Given the description of an element on the screen output the (x, y) to click on. 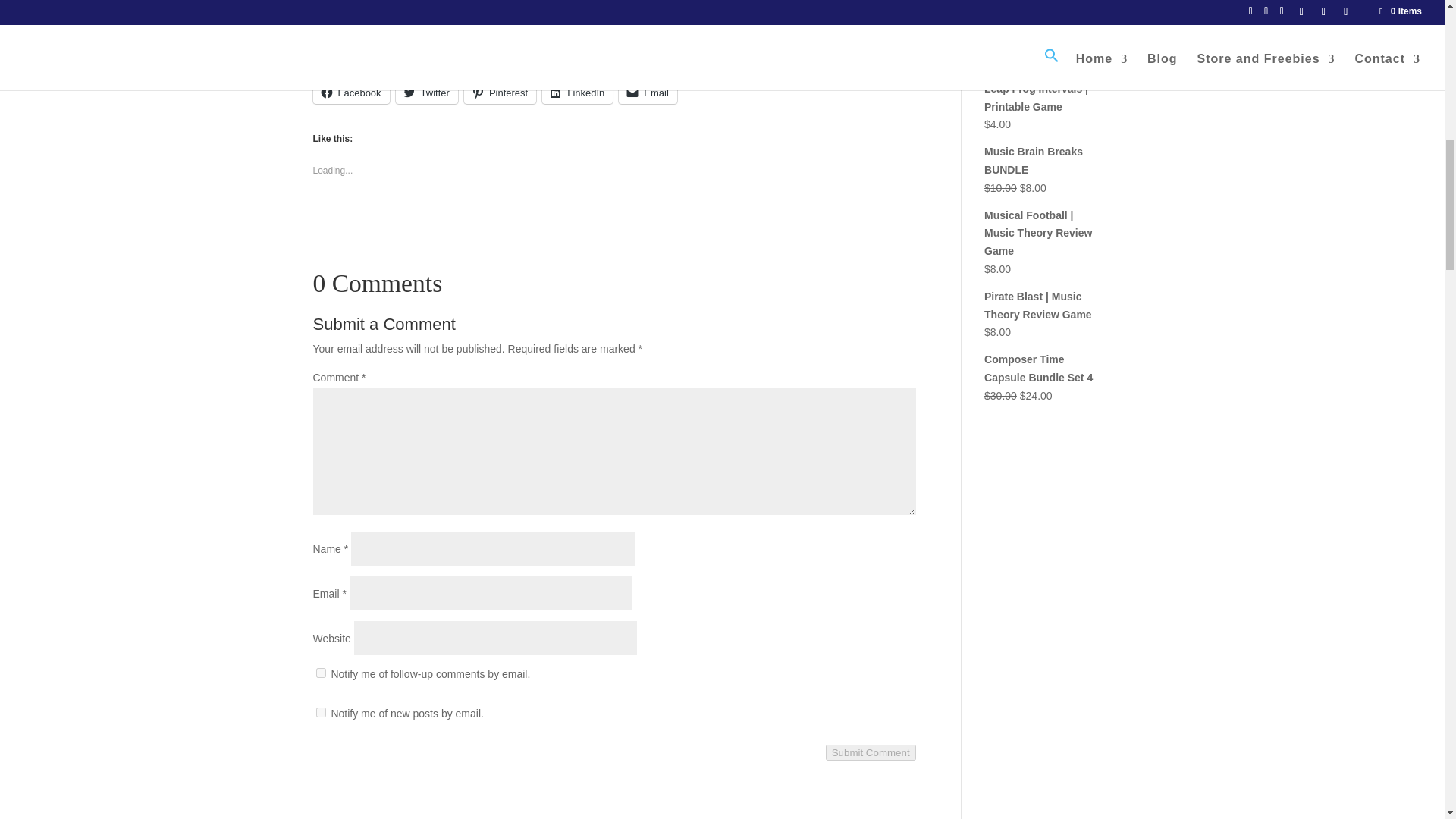
Click to share on Pinterest (499, 92)
email newsletter (799, 15)
TpT (789, 2)
Click to share on Twitter (427, 92)
Click to share on Facebook (350, 92)
Twitter (427, 92)
Click to email a link to a friend (647, 92)
subscribe (319, 712)
Click to share on LinkedIn (576, 92)
subscribe (319, 673)
